Given the description of an element on the screen output the (x, y) to click on. 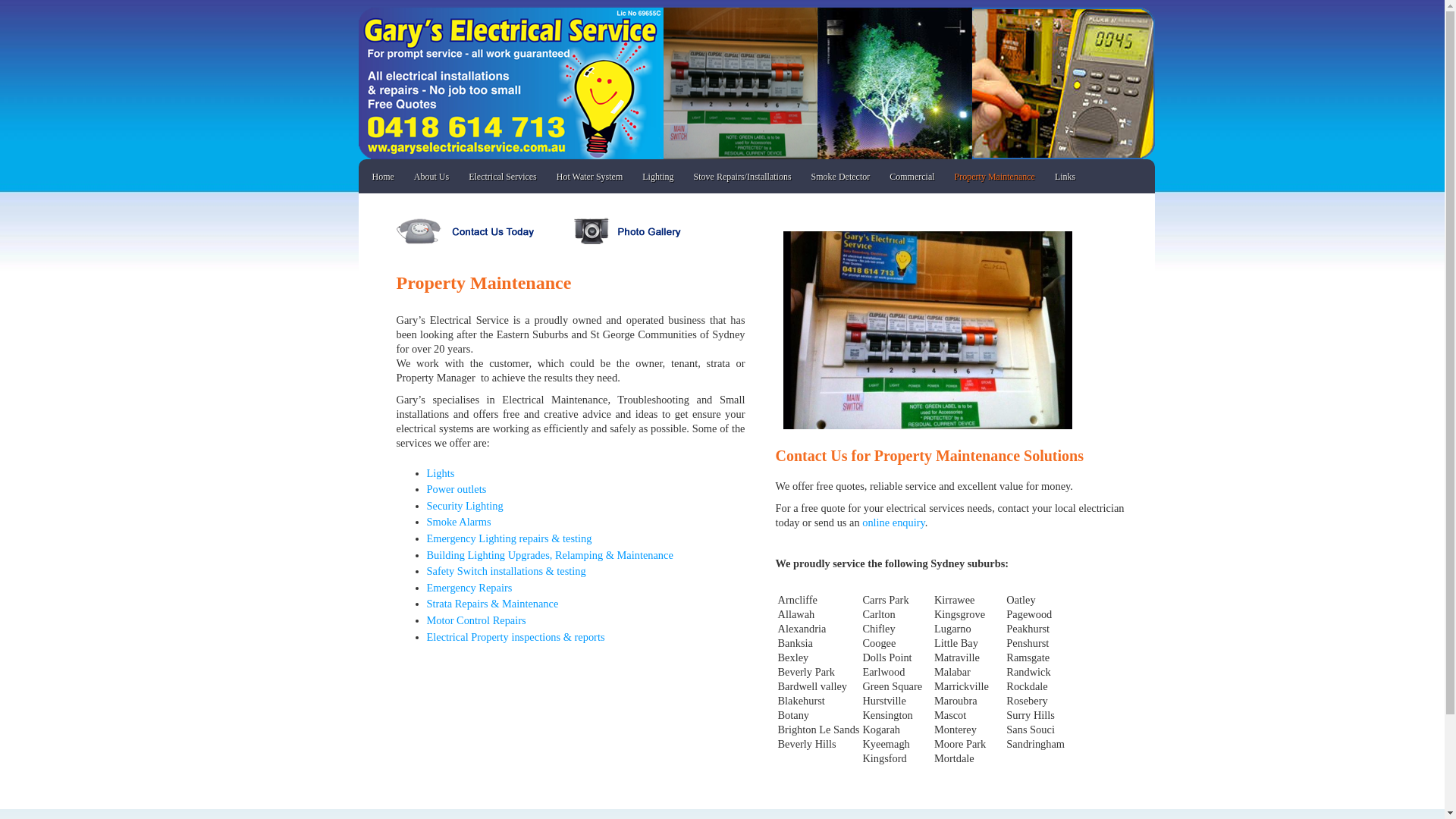
Electrical Property inspections & reports Element type: text (515, 636)
About Us Element type: text (431, 176)
Emergency Repairs Element type: text (468, 587)
Power outlets Element type: text (456, 489)
Home Element type: text (383, 176)
Lights Element type: text (440, 473)
Security Lighting Element type: text (464, 505)
Smoke Detector Element type: text (840, 176)
Lighting Element type: text (657, 176)
Motor Control Repairs Element type: text (475, 620)
Commercial Element type: text (911, 176)
Building Lighting Upgrades, Relamping & Maintenance Element type: text (549, 555)
Emergency Lighting repairs & testing Element type: text (508, 538)
Strata Repairs & Maintenance Element type: text (492, 603)
Links Element type: text (1064, 176)
online enquiry Element type: text (892, 522)
Property Maintenance Element type: text (994, 176)
Safety Switch installations & testing Element type: text (505, 570)
Stove Repairs/Installations Element type: text (742, 176)
Smoke Alarms Element type: text (458, 521)
Hot Water System Element type: text (589, 176)
Electrical Services Element type: text (502, 176)
